Given the description of an element on the screen output the (x, y) to click on. 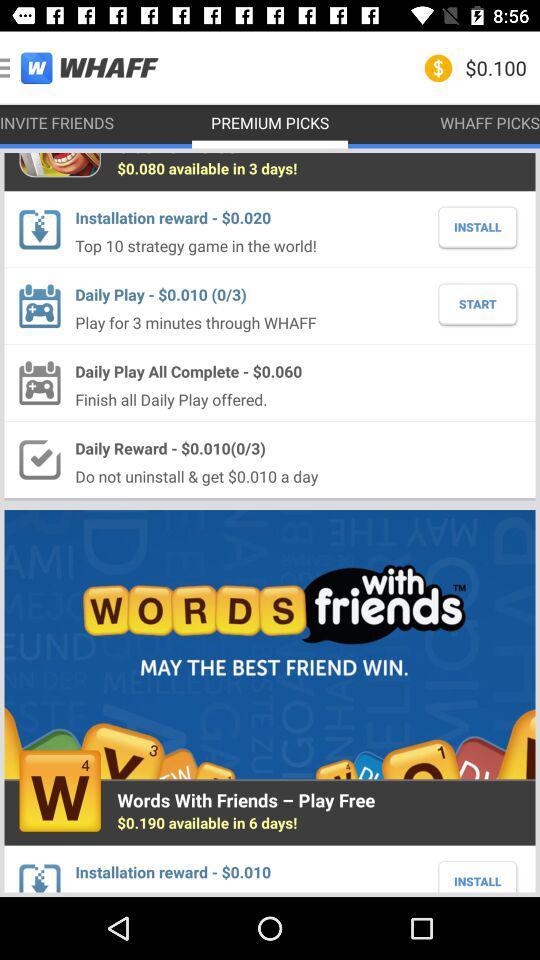
swipe until invite friends app (57, 122)
